Given the description of an element on the screen output the (x, y) to click on. 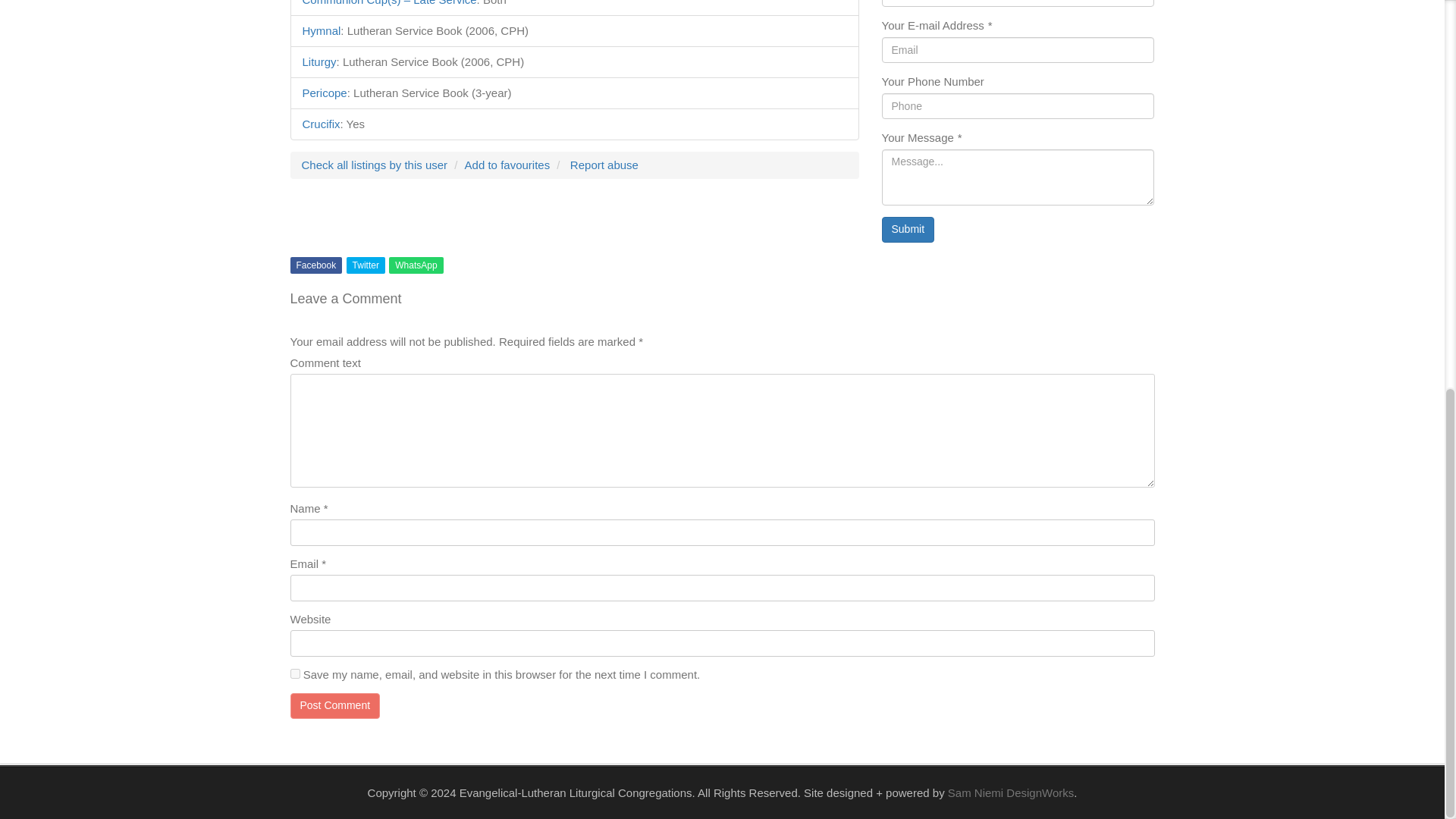
WhatsApp (415, 265)
Post Comment (334, 705)
Facebook (315, 265)
Report abuse (604, 164)
Check all listings by this user (374, 164)
Twitter (365, 265)
Add to favourites (507, 164)
yes (294, 673)
Sam Niemi DesignWorks (1010, 792)
Post Comment (334, 705)
